Given the description of an element on the screen output the (x, y) to click on. 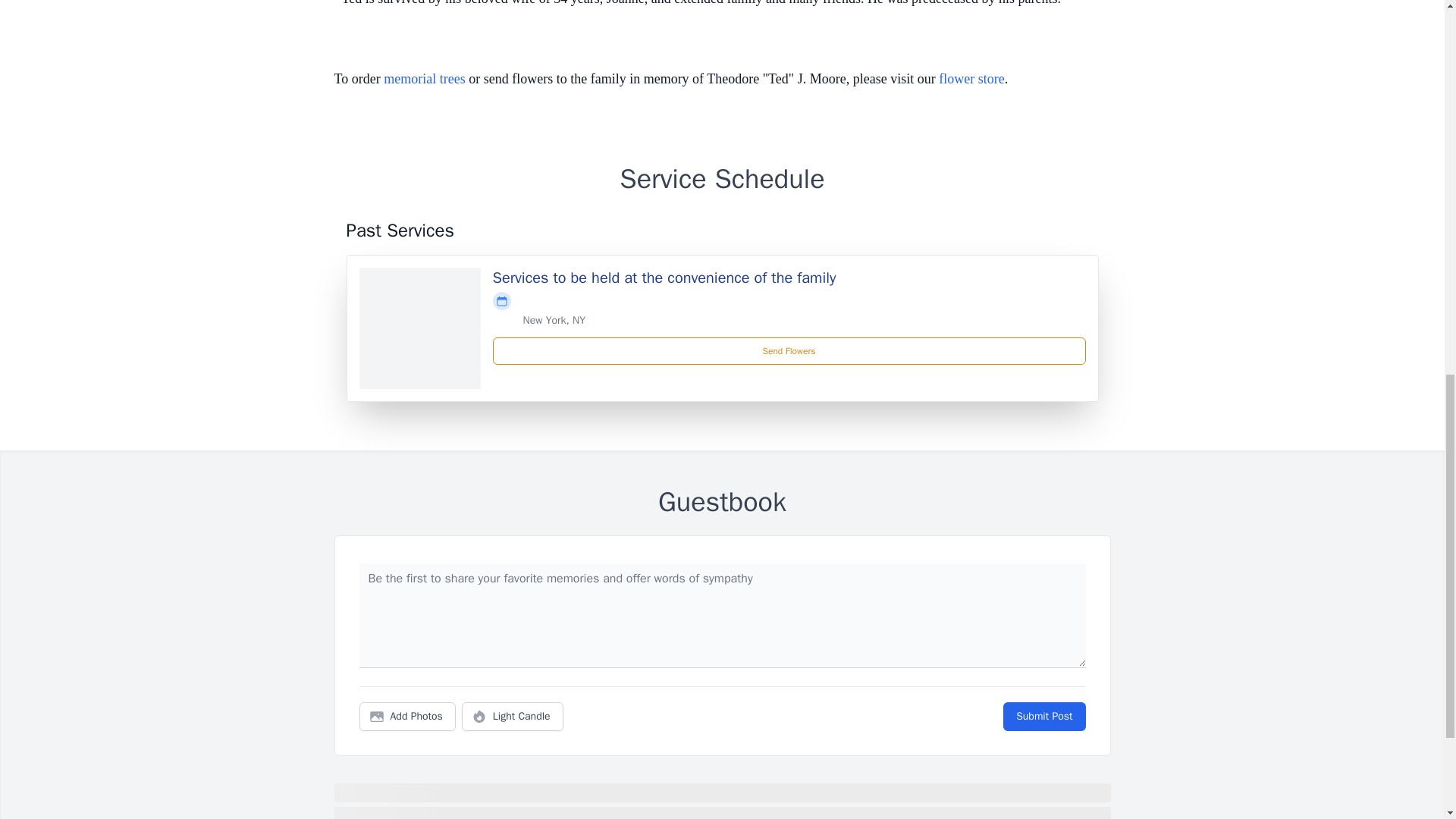
memorial trees (424, 78)
Add Photos (407, 716)
Send Flowers (789, 350)
flower store (971, 78)
Submit Post (1043, 716)
Light Candle (512, 716)
New York, NY (554, 319)
